Given the description of an element on the screen output the (x, y) to click on. 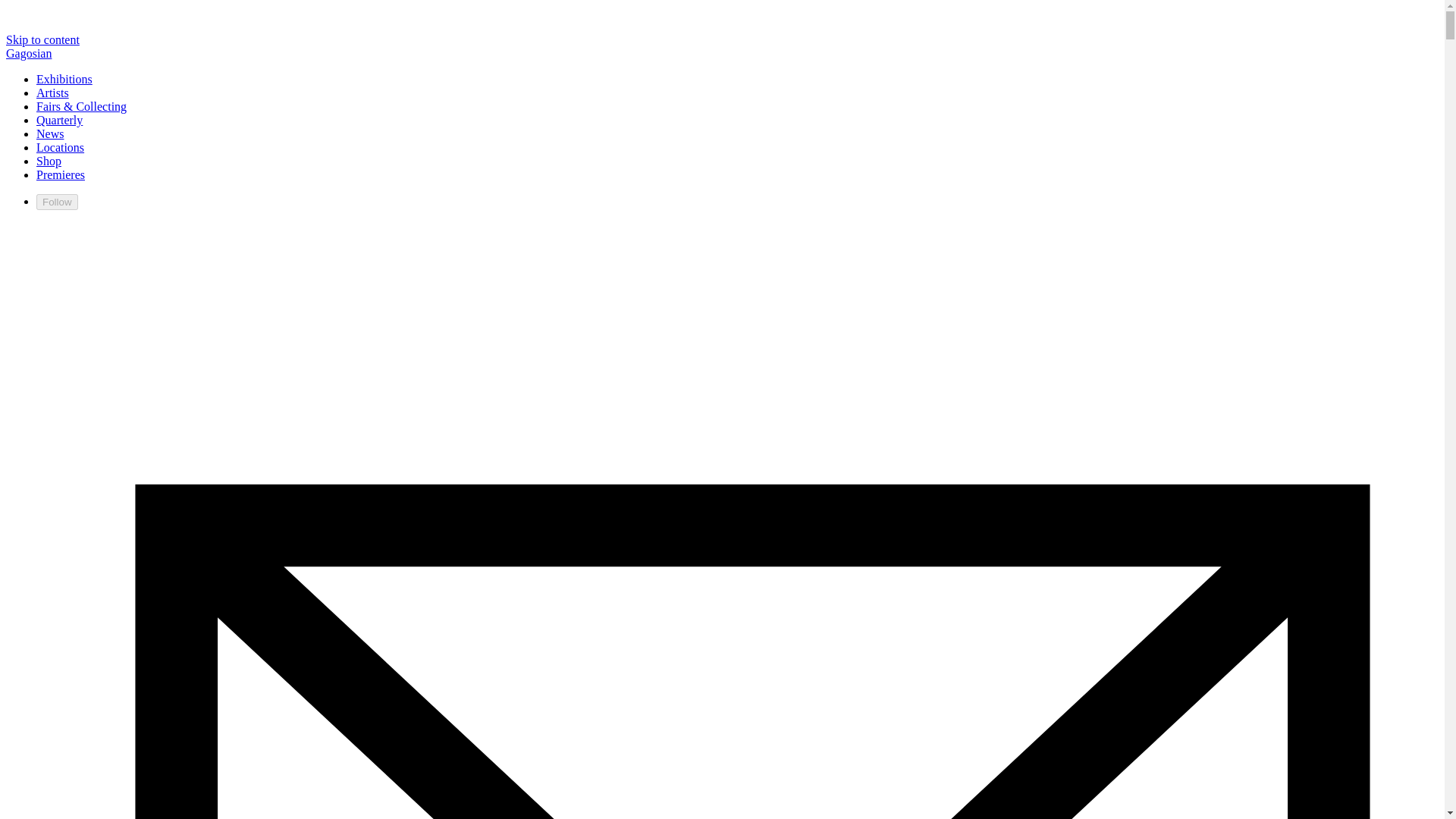
Skip to content (42, 39)
Premieres (60, 174)
Artists (52, 92)
Gagosian (27, 52)
Locations (60, 146)
Shop (48, 160)
News (50, 133)
Follow (57, 201)
Exhibitions (64, 78)
Quarterly (59, 119)
